Given the description of an element on the screen output the (x, y) to click on. 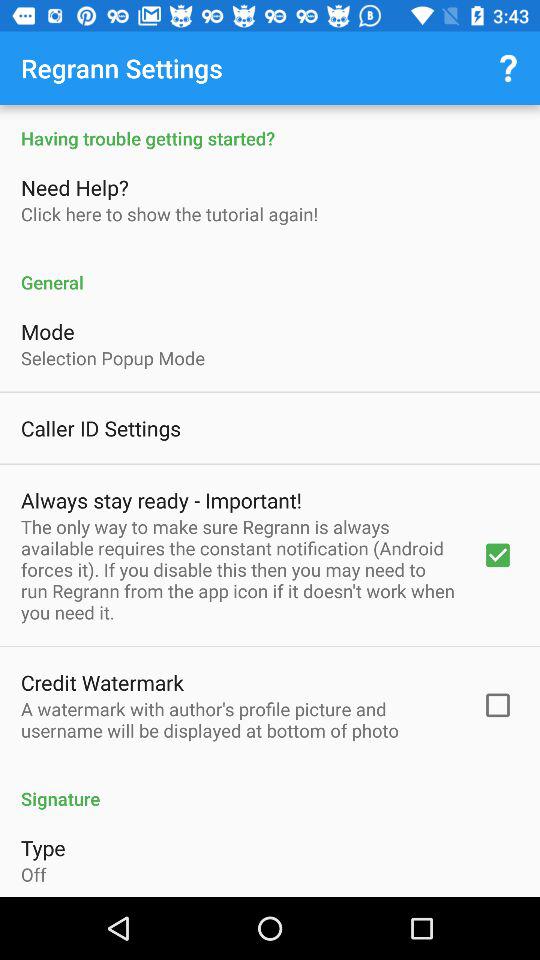
tap the a watermark with (238, 719)
